Given the description of an element on the screen output the (x, y) to click on. 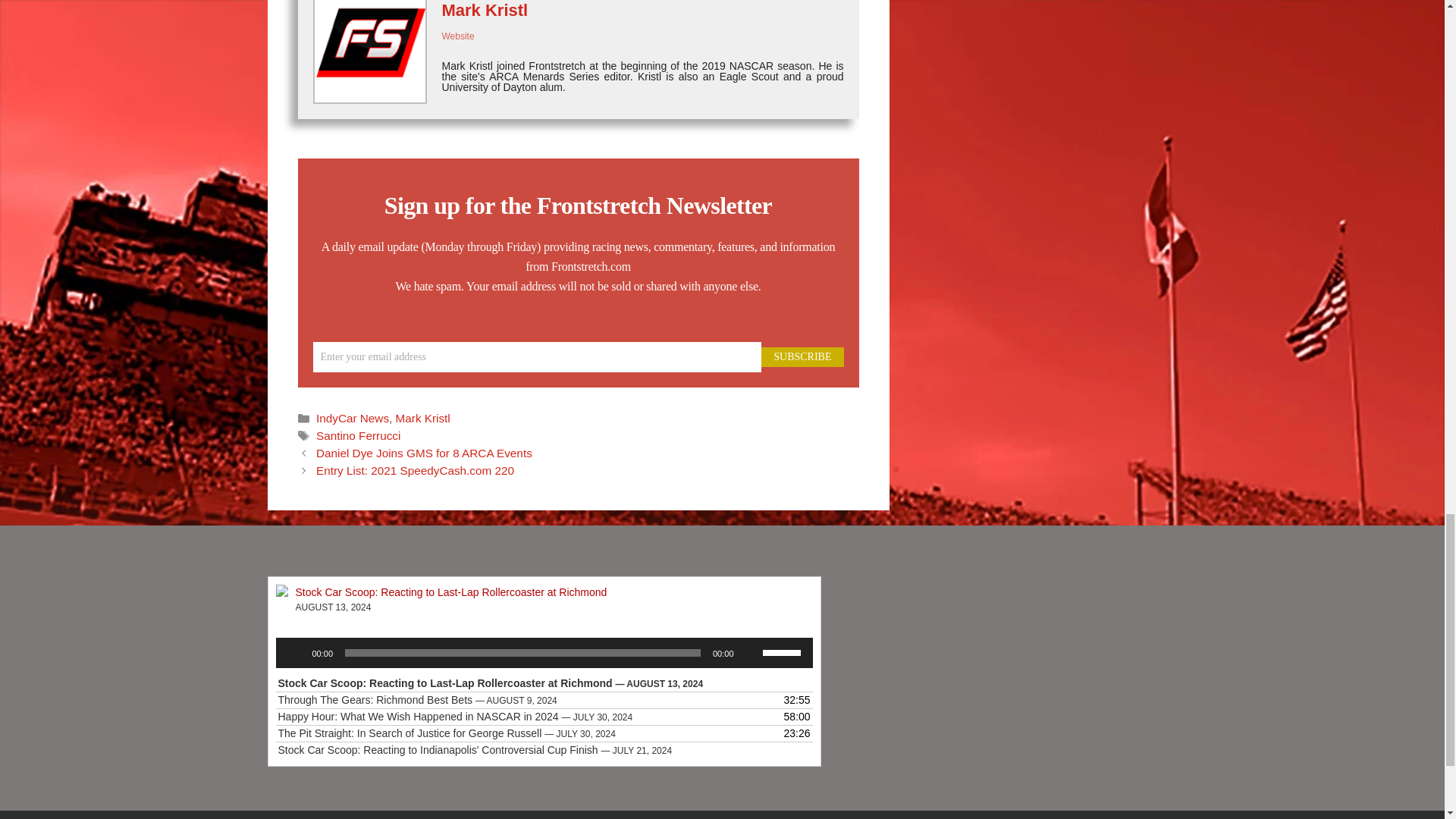
IndyCar News (351, 418)
Website (457, 36)
Mute (750, 652)
Mark Kristl (484, 9)
Mark Kristl (422, 418)
Play (295, 652)
Entry List: 2021 SpeedyCash.com 220 (414, 470)
Santino Ferrucci (357, 435)
Daniel Dye Joins GMS for 8 ARCA Events (423, 452)
SUBSCRIBE (802, 356)
